Given the description of an element on the screen output the (x, y) to click on. 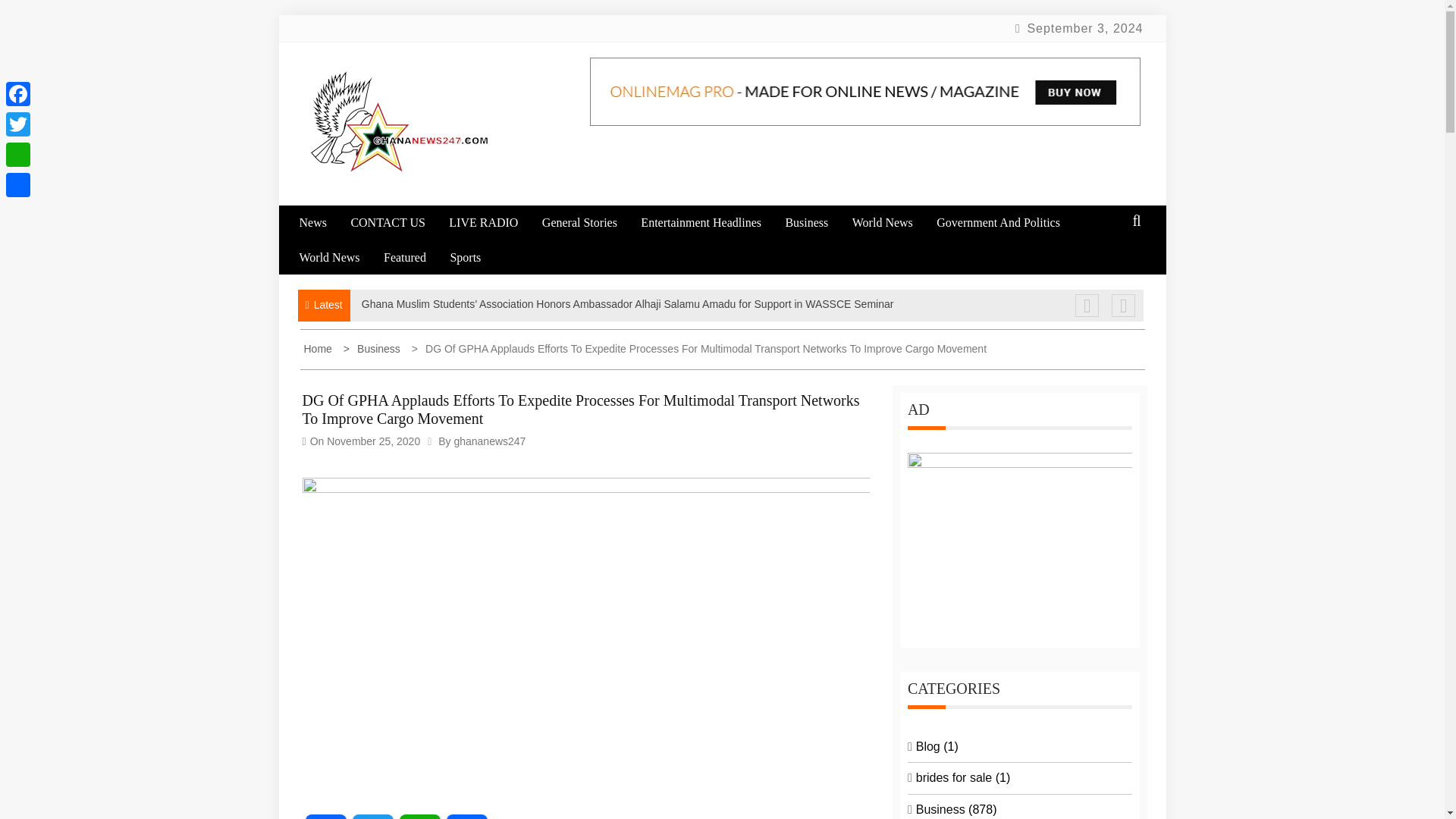
Facebook (325, 816)
LIVE RADIO (493, 222)
ghananews247 (488, 440)
Home (318, 348)
Business (373, 348)
News (322, 222)
Government And Politics (1008, 222)
CONTACT US (397, 222)
Featured (415, 257)
